Given the description of an element on the screen output the (x, y) to click on. 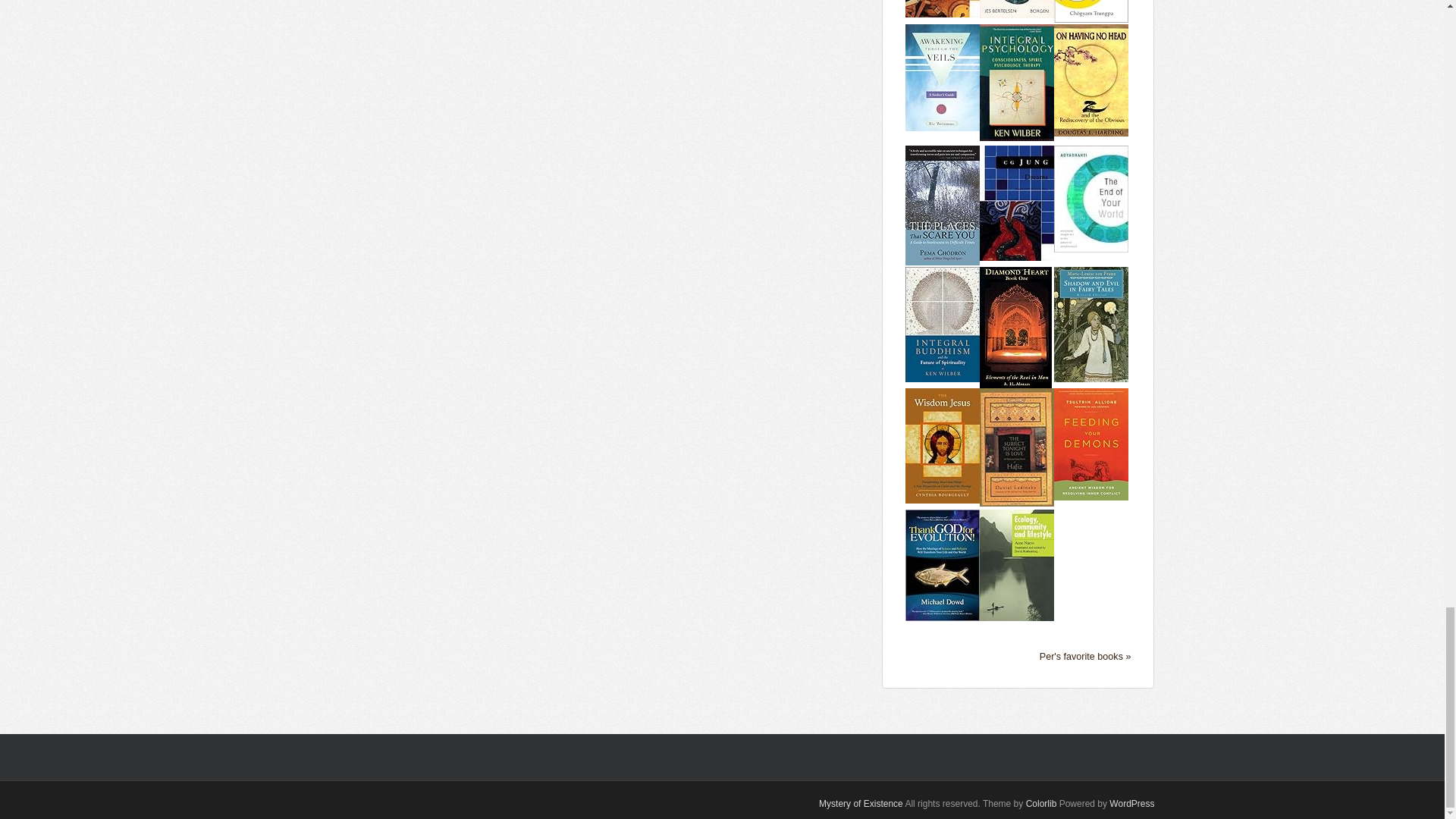
Awakening Through the Veils: A Seeker's Guide (942, 76)
On Having No Head: Zen and the Rediscovery of the Obvious (1091, 79)
